Given the description of an element on the screen output the (x, y) to click on. 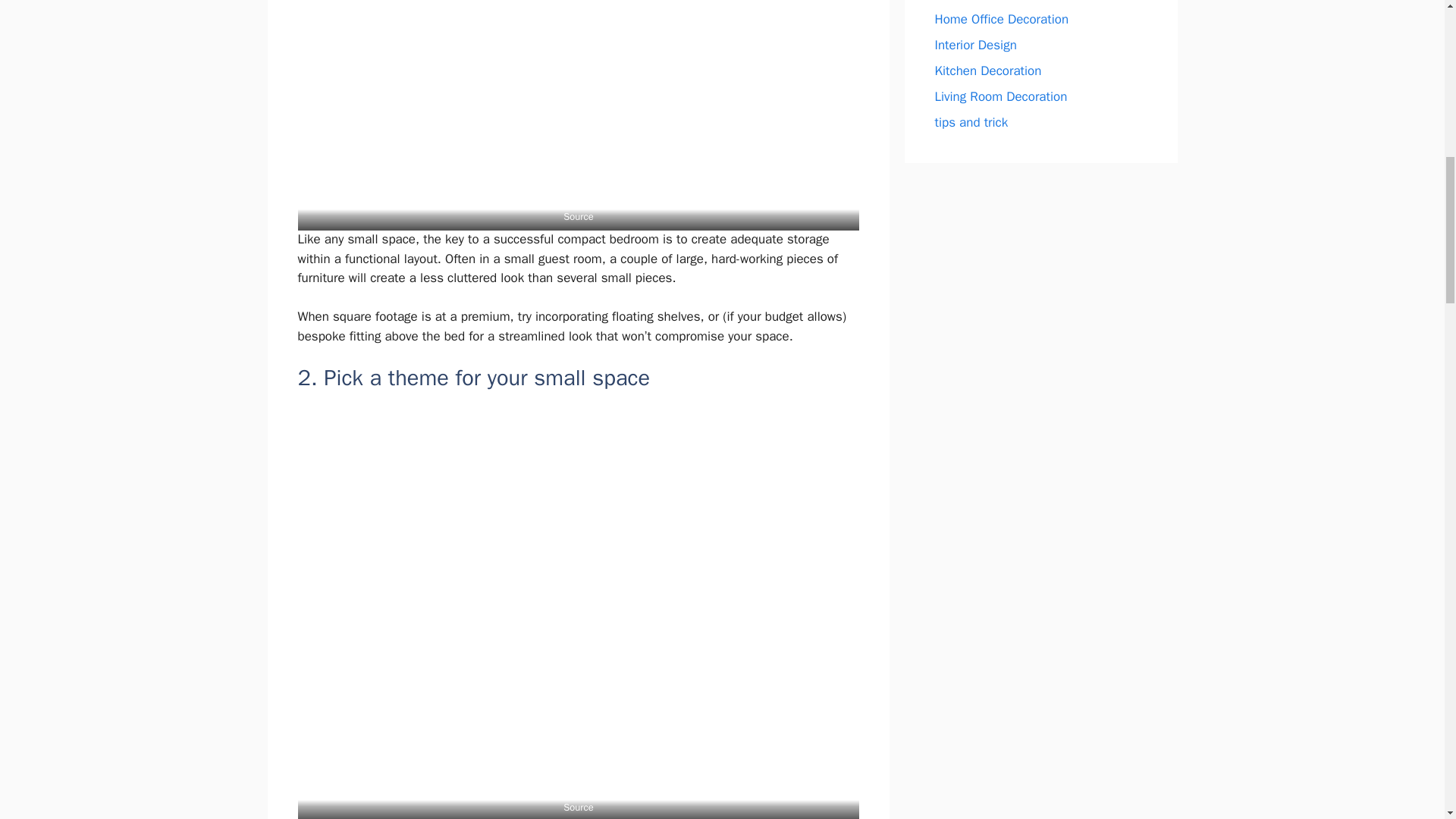
Scroll back to top (1406, 720)
Home Office Decoration (1001, 19)
Source (577, 215)
Source (577, 807)
Home Decoration (983, 0)
The Best Ways to Decorate Small Bedrooms (578, 115)
